Given the description of an element on the screen output the (x, y) to click on. 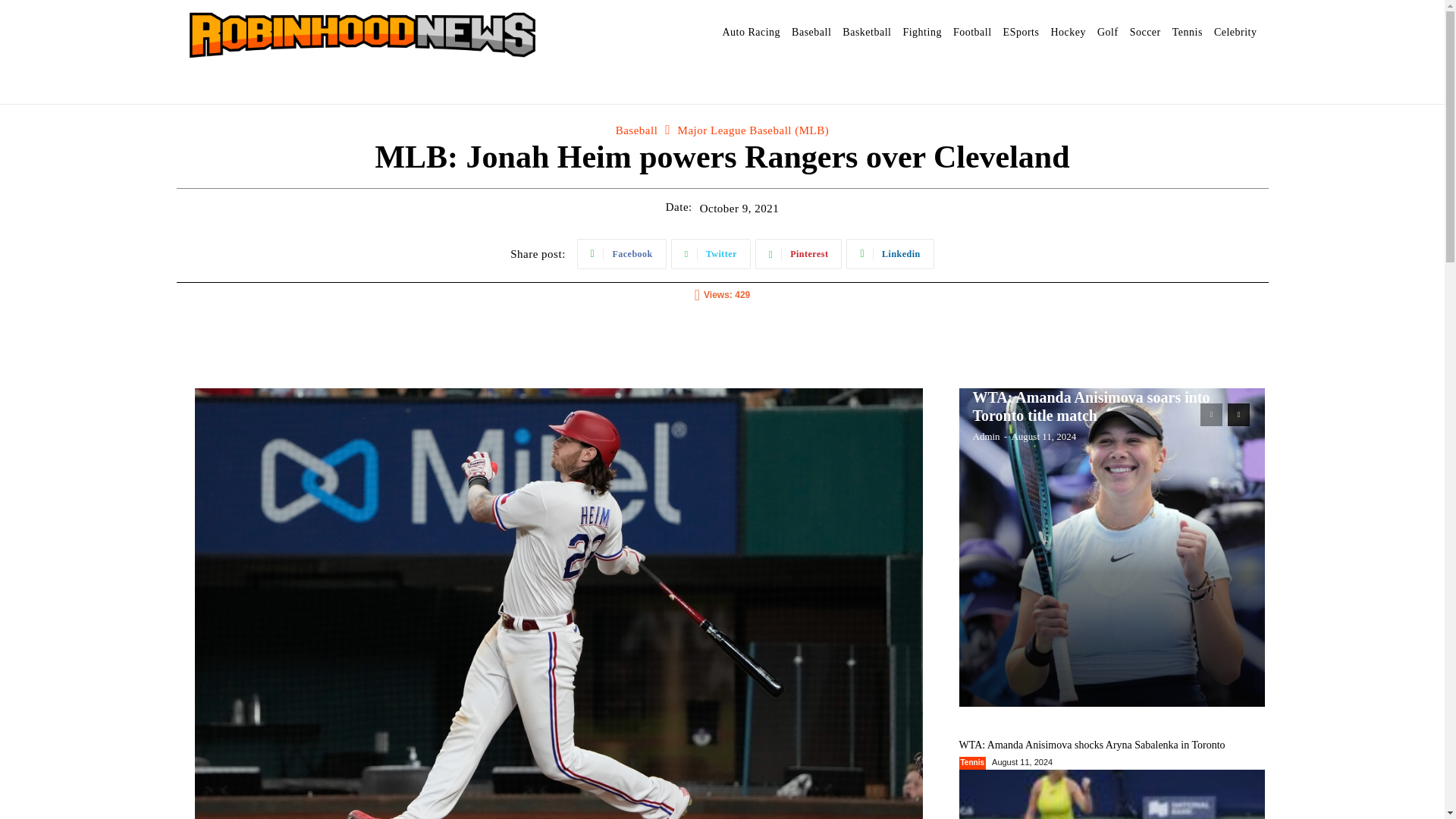
WTA: Amanda Anisimova shocks Aryna Sabalenka in Toronto (1111, 794)
WTA: Amanda Anisimova soars into Toronto title match (1090, 406)
Twitter (711, 254)
WTA: Amanda Anisimova shocks Aryna Sabalenka in Toronto (1091, 745)
WTA: Amanda Anisimova soars into Toronto title match (1111, 547)
Facebook (621, 254)
Pinterest (799, 254)
Linkedin (889, 254)
